Given the description of an element on the screen output the (x, y) to click on. 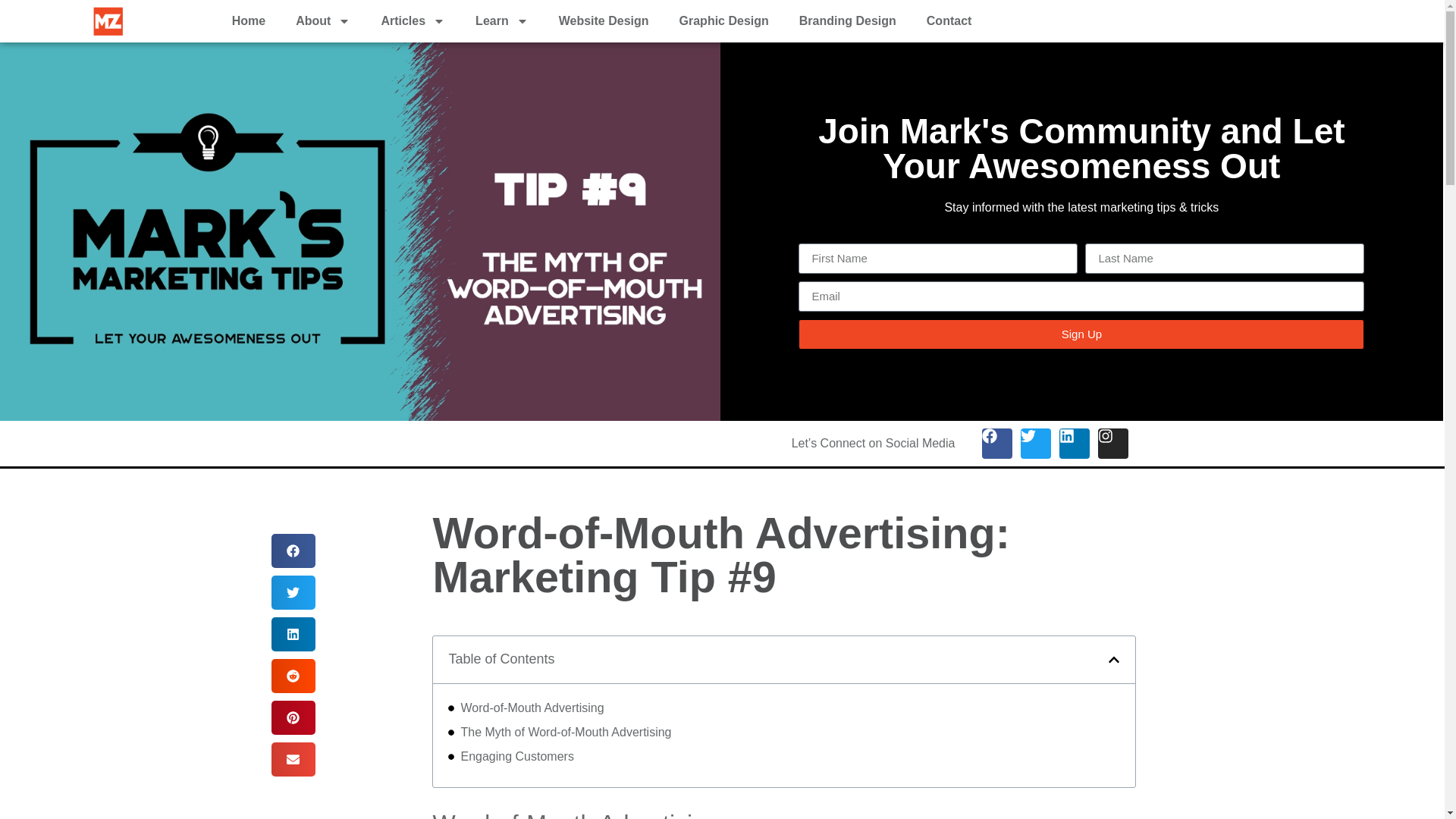
Branding Design (847, 21)
Learn (501, 21)
Contact (949, 21)
Articles (412, 21)
Home (248, 21)
About (323, 21)
Website Design (603, 21)
Graphic Design (723, 21)
